Given the description of an element on the screen output the (x, y) to click on. 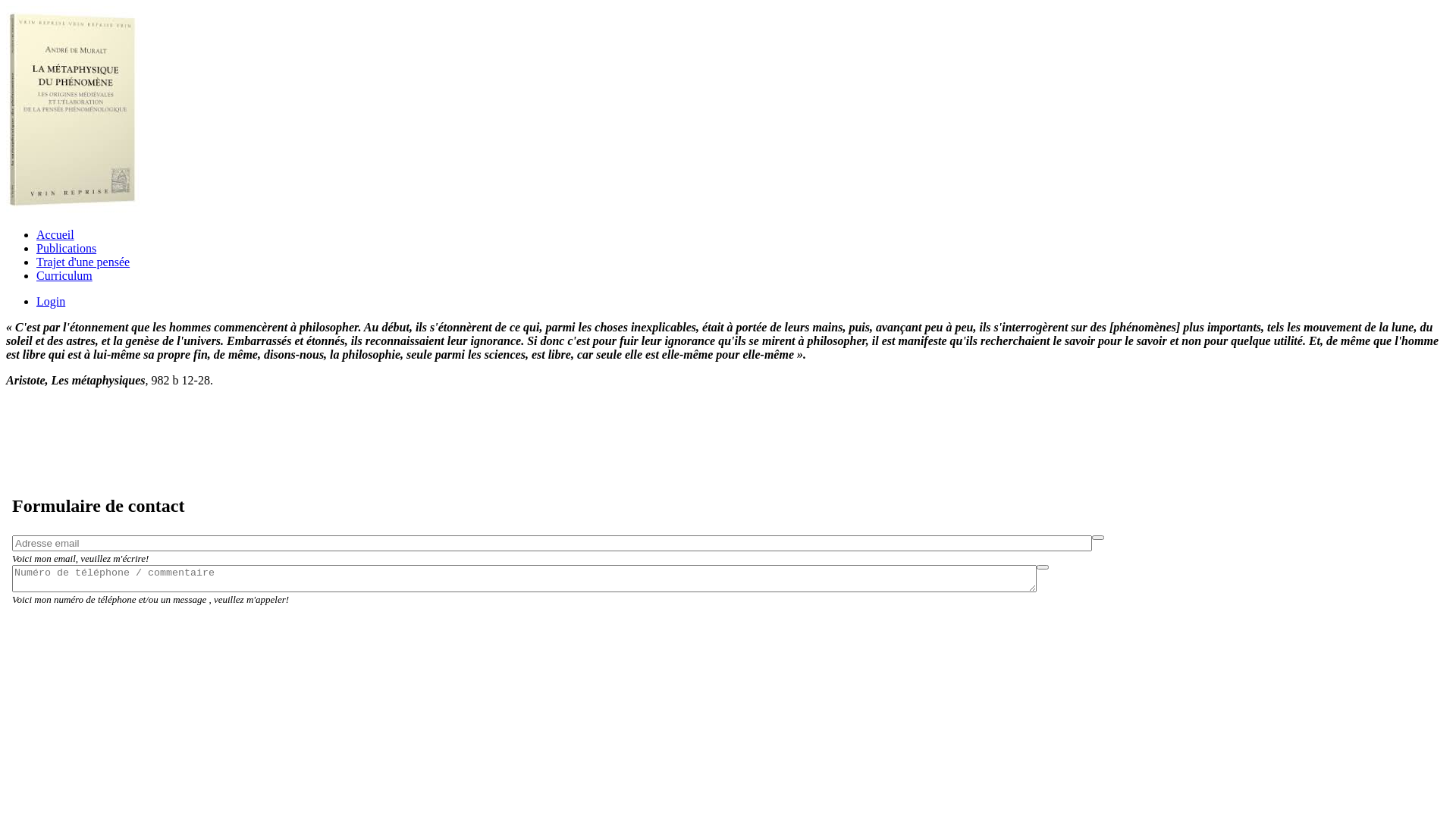
Curriculum Element type: text (64, 275)
Publications Element type: text (66, 247)
Login Element type: text (50, 300)
Accueil Element type: text (55, 234)
